Given the description of an element on the screen output the (x, y) to click on. 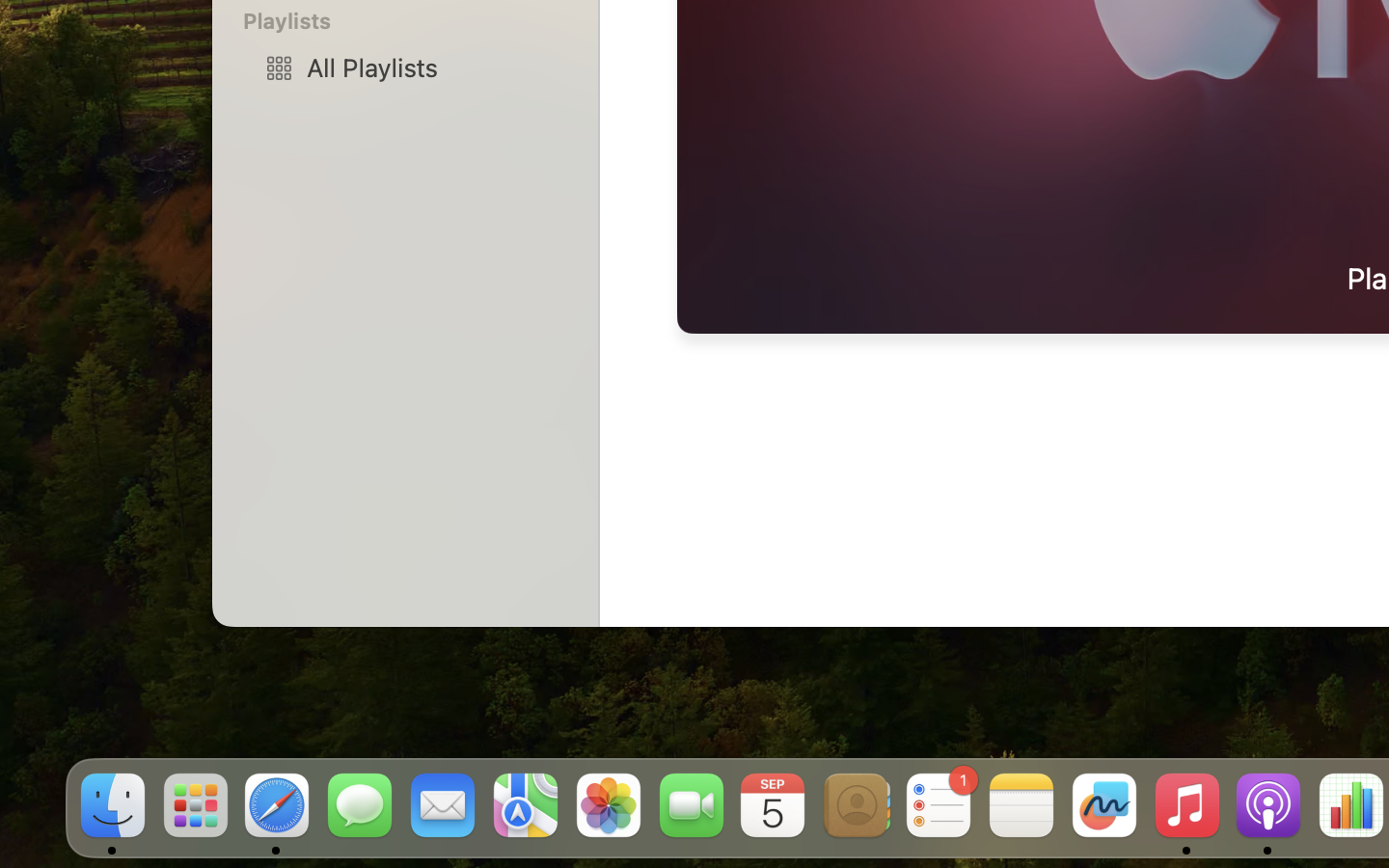
Playlists Element type: AXStaticText (416, 20)
All Playlists Element type: AXStaticText (434, 67)
